Given the description of an element on the screen output the (x, y) to click on. 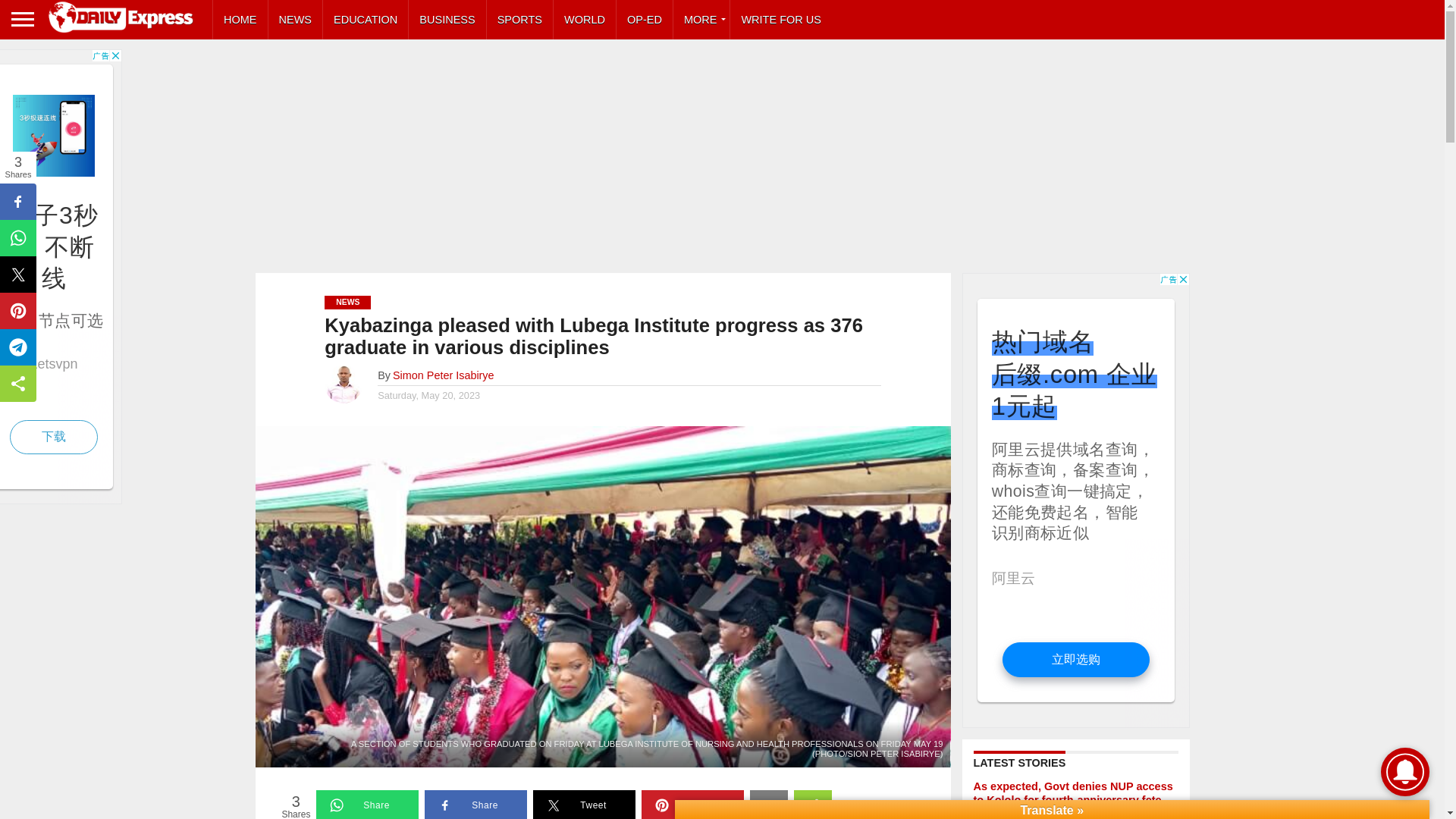
MORE (701, 19)
BUSINESS (446, 19)
Simon Peter Isabirye (444, 375)
NEWS (295, 19)
WRITE FOR US (780, 19)
HOME (239, 19)
EDUCATION (365, 19)
WORLD (584, 19)
Posts by Simon Peter Isabirye (444, 375)
SPORTS (519, 19)
OP-ED (643, 19)
